Given the description of an element on the screen output the (x, y) to click on. 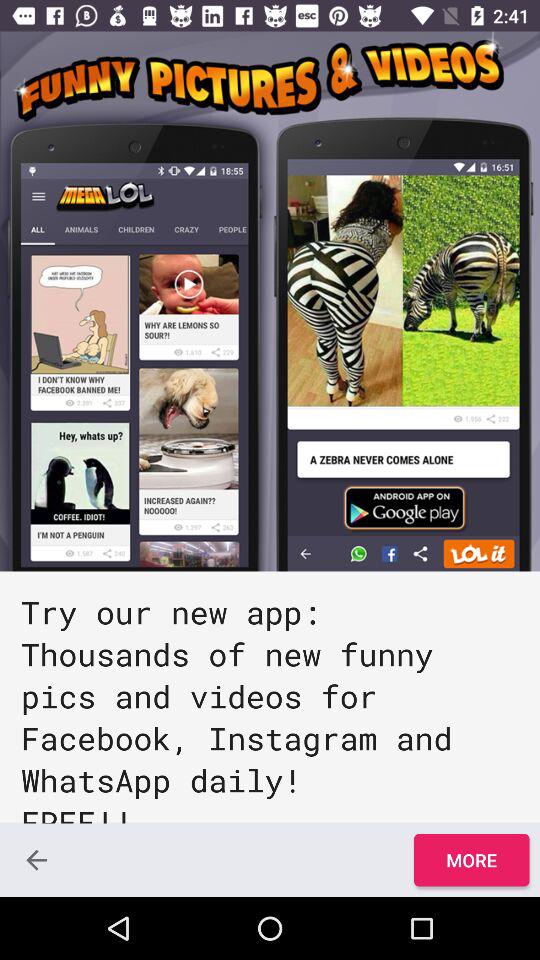
click item below the try our new icon (471, 859)
